Given the description of an element on the screen output the (x, y) to click on. 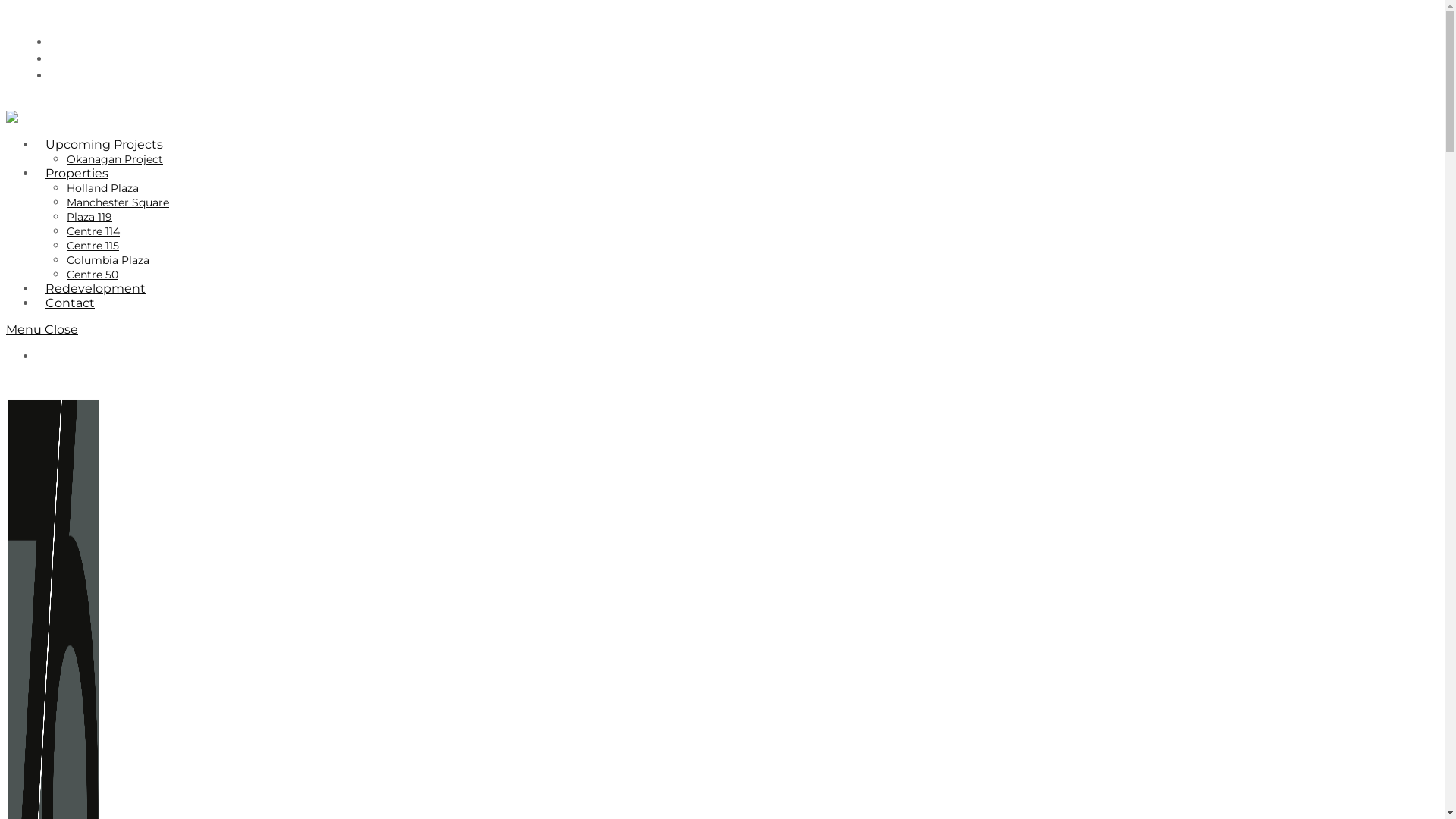
Holland Plaza Element type: text (102, 187)
780-705-8676 Element type: text (77, 355)
Redevelopment Element type: text (95, 288)
Upcoming Projects Element type: text (104, 144)
Properties Element type: text (76, 173)
Contact Element type: text (69, 302)
Centre 115 Element type: text (92, 245)
Leasing/Sales Opportunities Element type: text (91, 382)
Manchester Square Element type: text (117, 202)
Plaza 119 Element type: text (89, 216)
Menu Close Element type: text (42, 329)
Columbia Plaza Element type: text (107, 259)
Skip to content Element type: text (5, 5)
Centre 50 Element type: text (92, 274)
Centre 114 Element type: text (92, 231)
Okanagan Project Element type: text (114, 159)
